Given the description of an element on the screen output the (x, y) to click on. 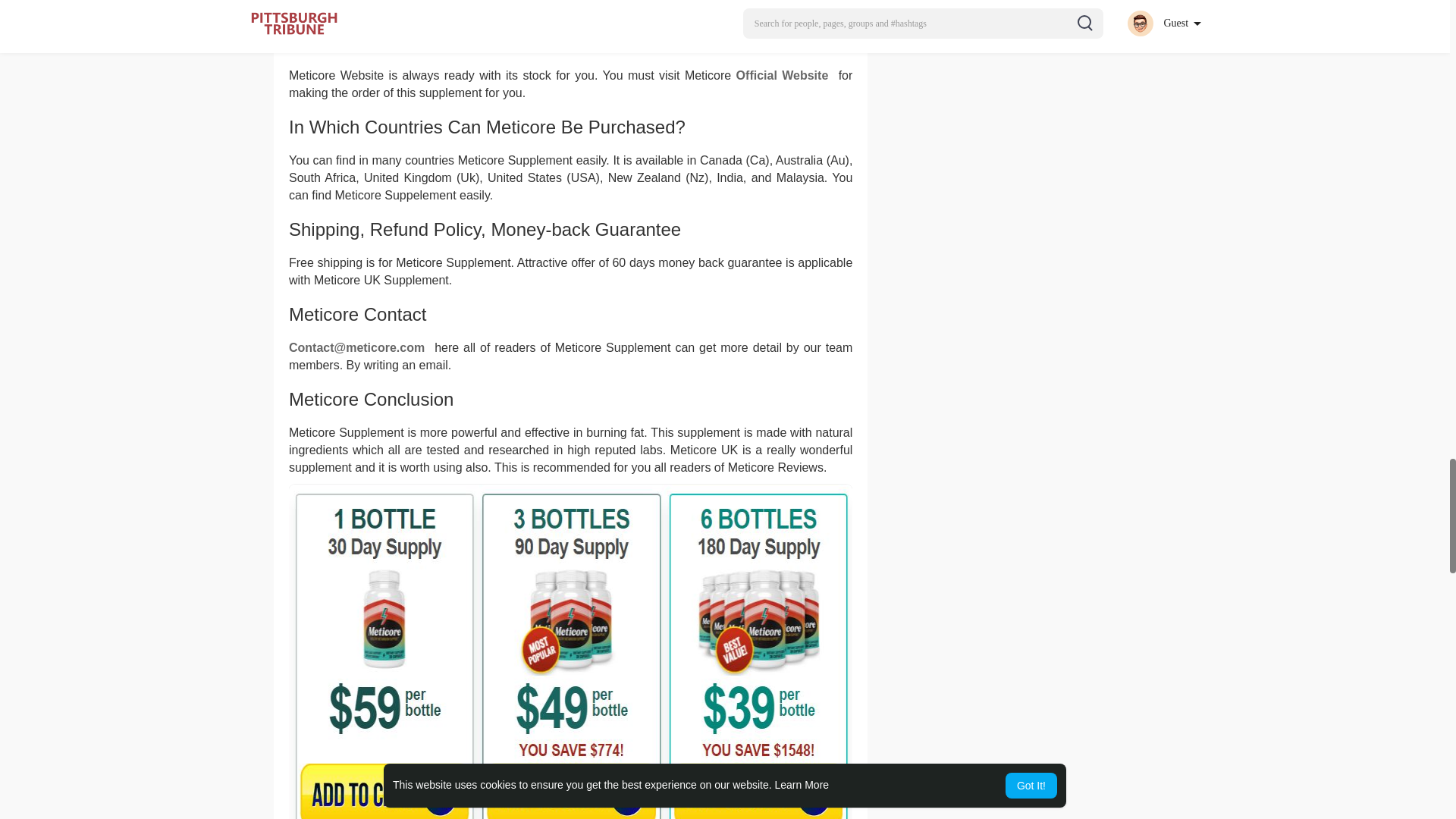
Official Website (785, 74)
